Given the description of an element on the screen output the (x, y) to click on. 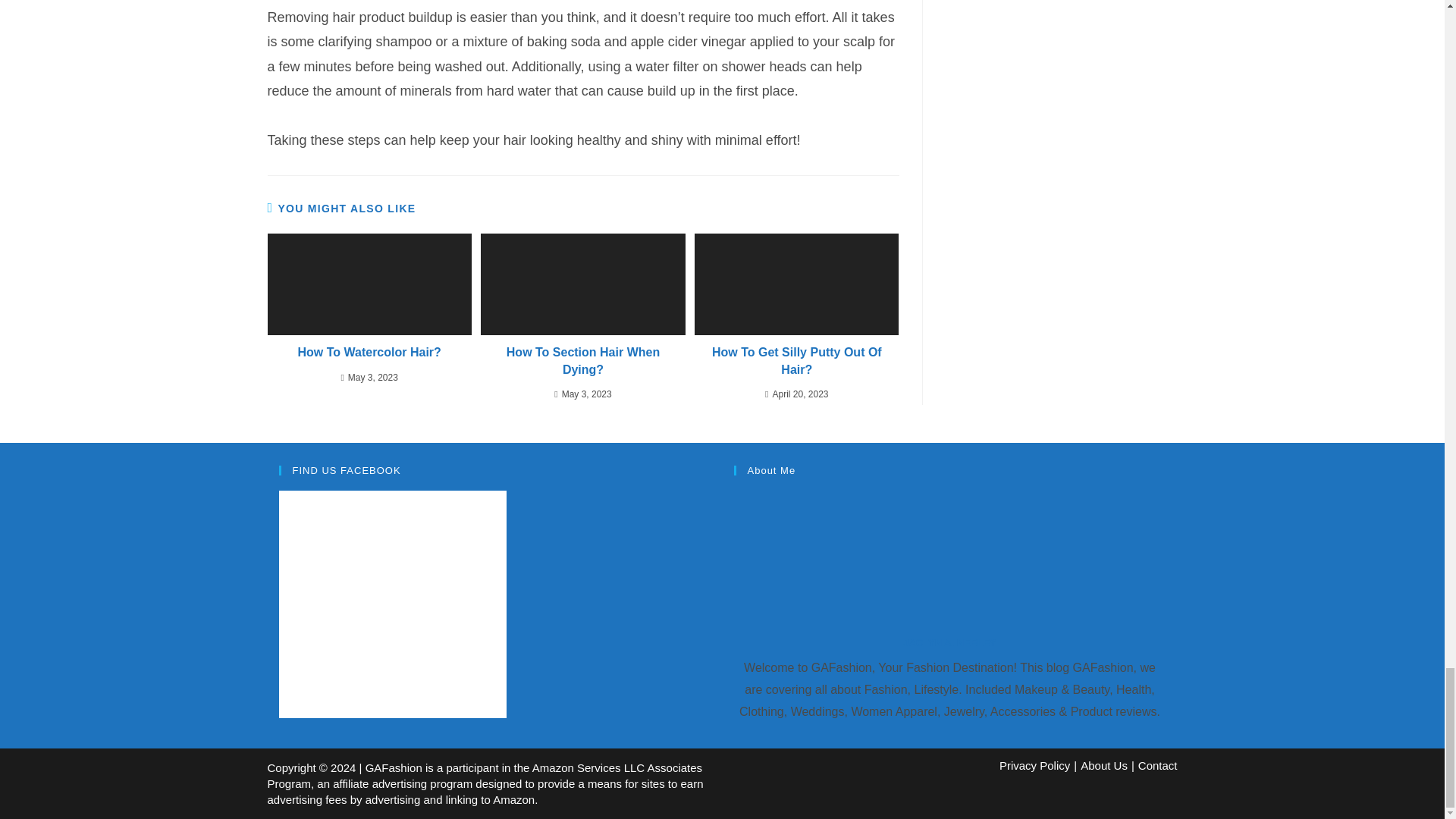
How To Watercolor Hair? (368, 352)
How To Section Hair When Dying? (582, 360)
How To Get Silly Putty Out Of Hair? (796, 360)
